Given the description of an element on the screen output the (x, y) to click on. 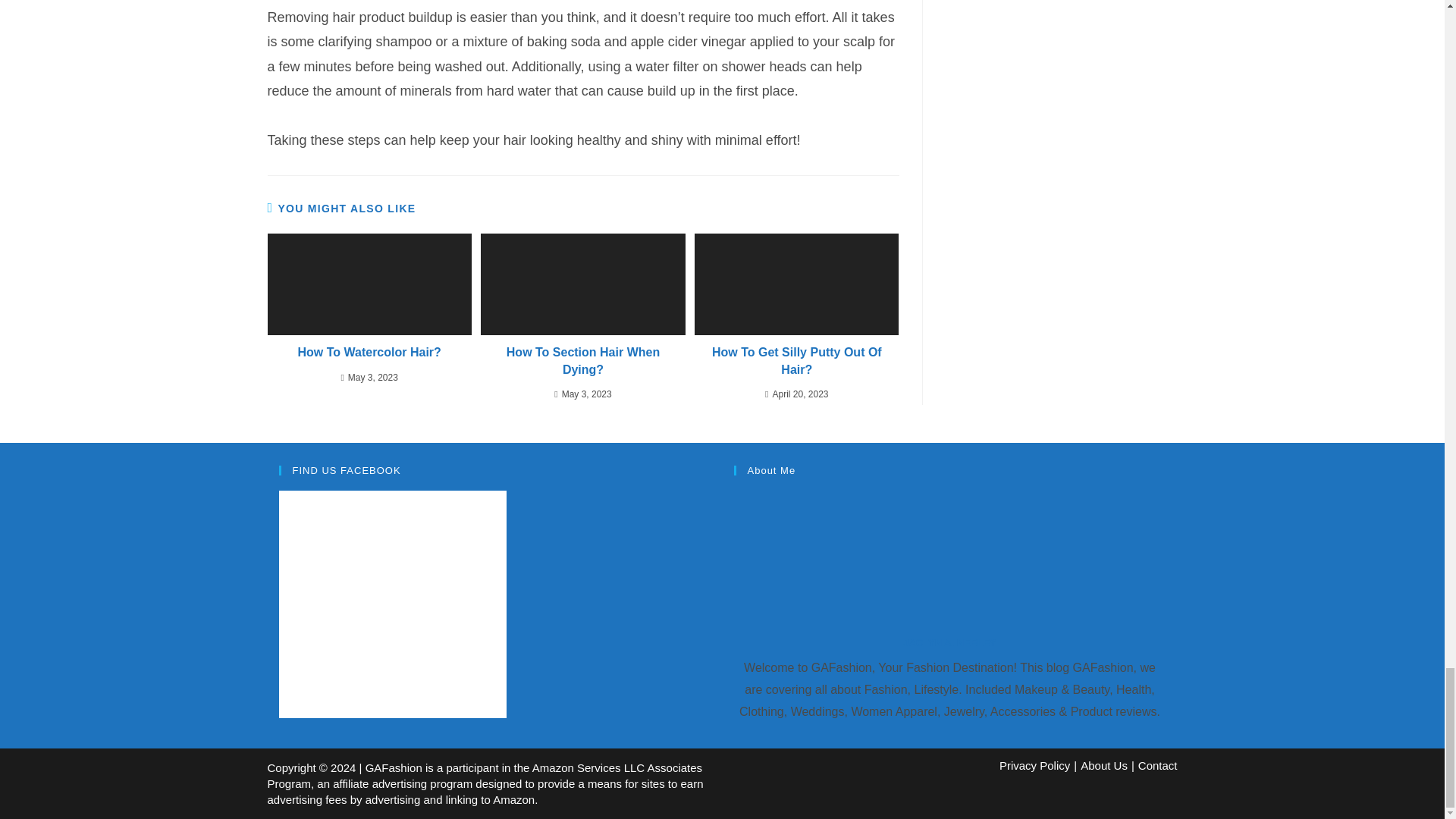
How To Watercolor Hair? (368, 352)
How To Section Hair When Dying? (582, 360)
How To Get Silly Putty Out Of Hair? (796, 360)
